Given the description of an element on the screen output the (x, y) to click on. 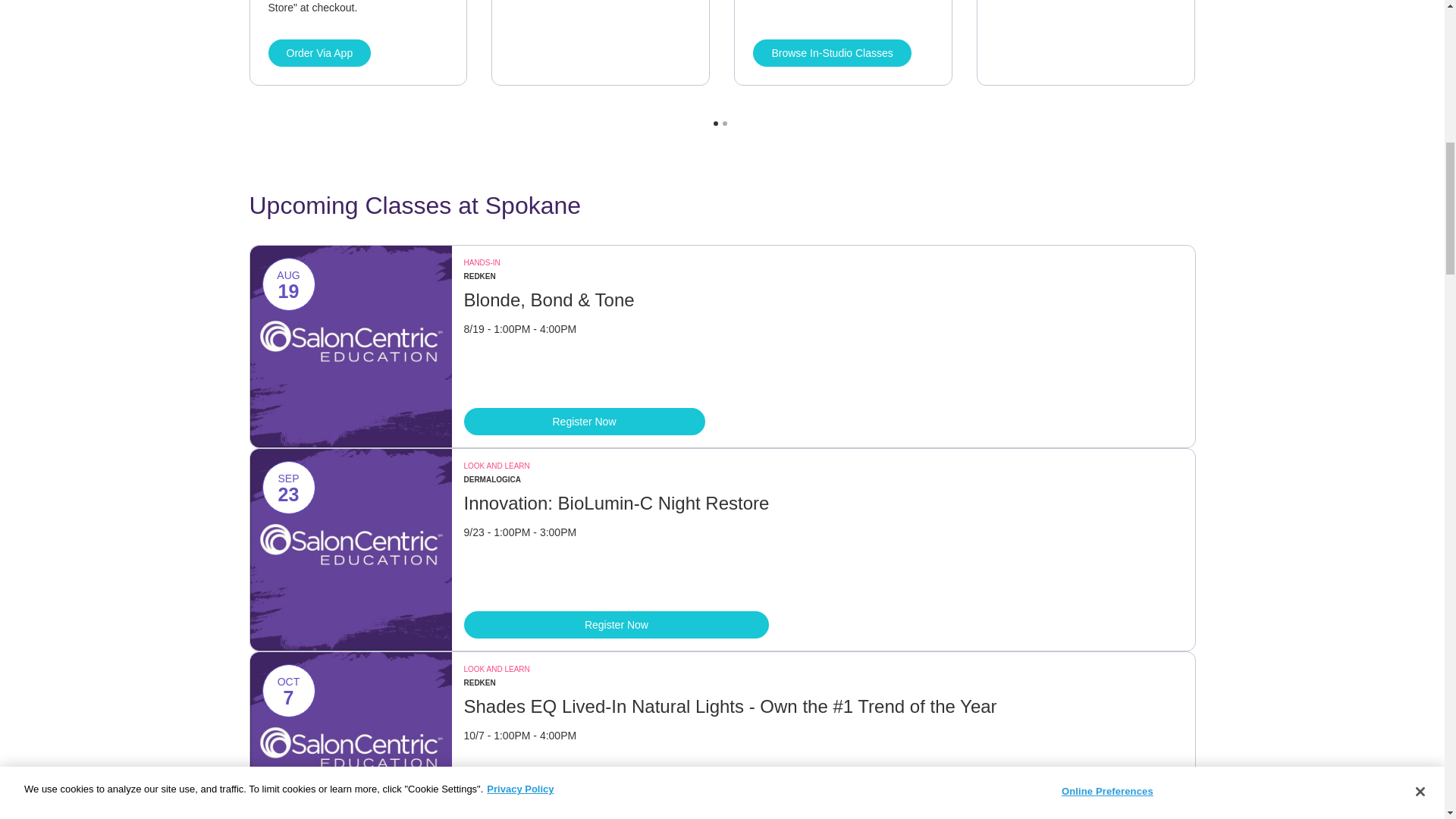
Order Via App (358, 42)
Browse In-Studio Classes (843, 42)
Order Via App (319, 52)
Browse In-Studio Classes (831, 52)
